Given the description of an element on the screen output the (x, y) to click on. 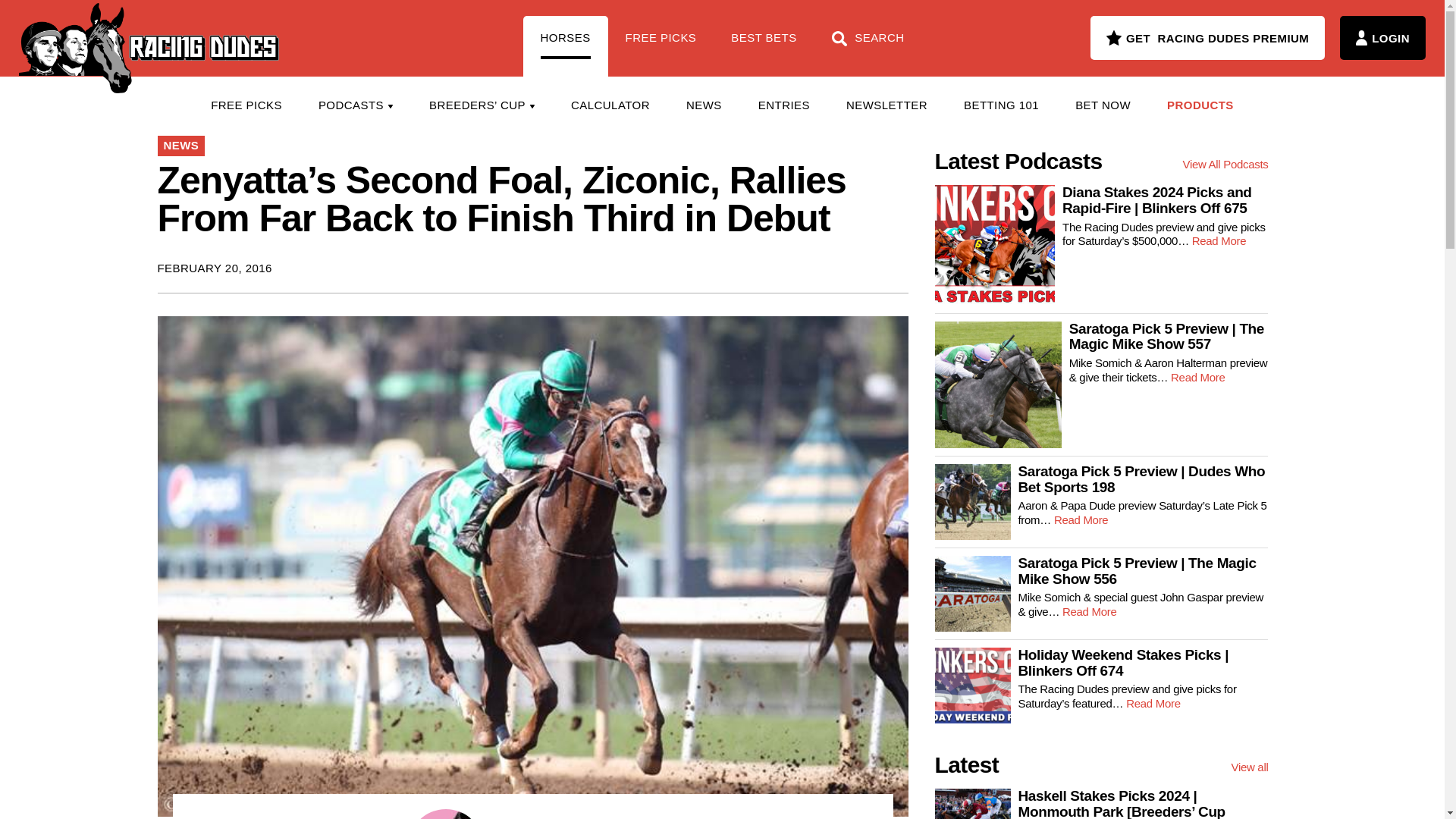
PODCASTS (354, 105)
FREE PICKS (245, 105)
GET  RACING DUDES PREMIUM (1207, 37)
HORSES (565, 45)
 SEARCH (867, 45)
FREE PICKS (661, 45)
BEST BETS (763, 45)
LOGIN (1382, 37)
